Given the description of an element on the screen output the (x, y) to click on. 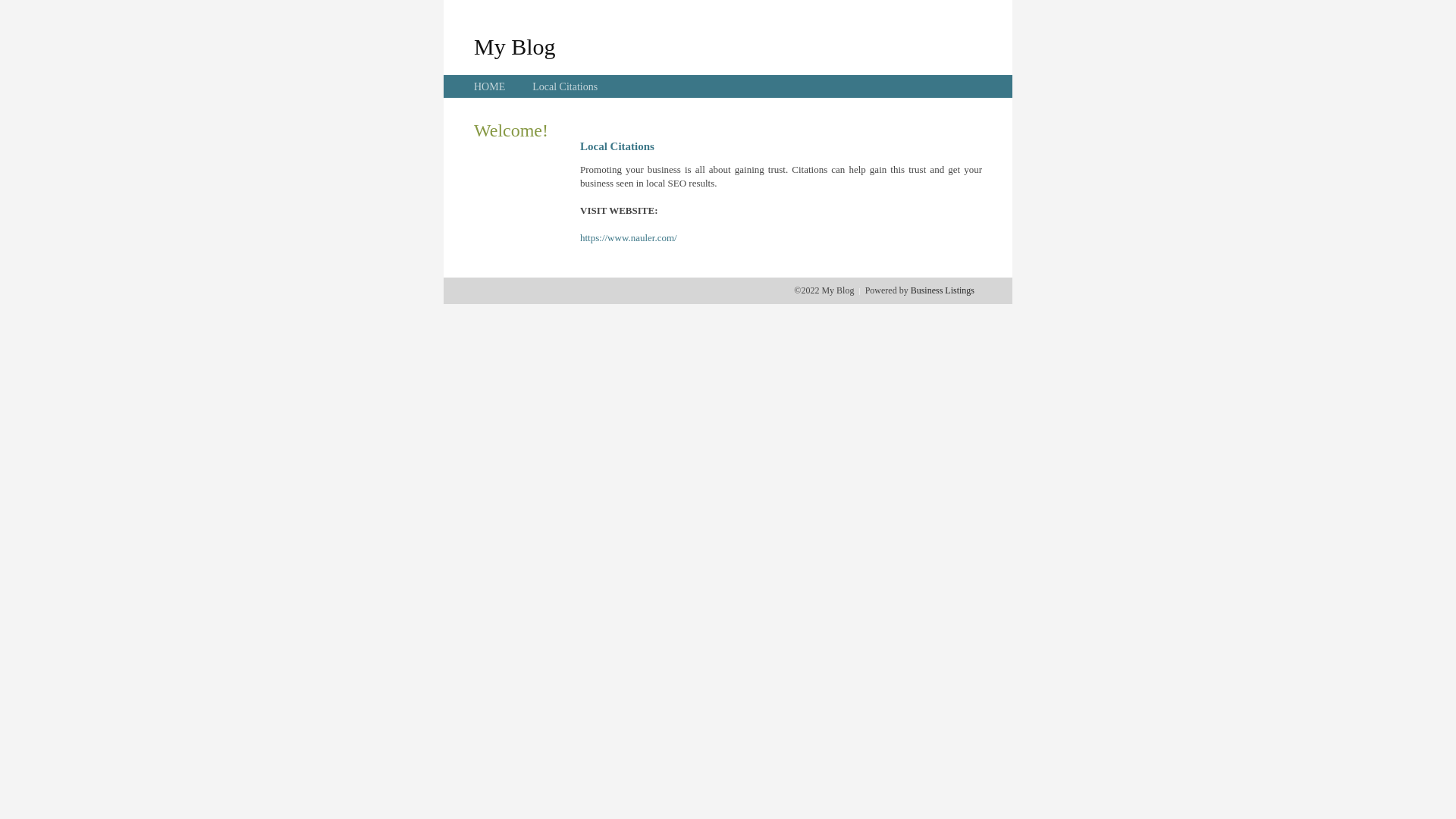
https://www.nauler.com/ Element type: text (628, 237)
HOME Element type: text (489, 86)
My Blog Element type: text (514, 46)
Business Listings Element type: text (942, 290)
Local Citations Element type: text (564, 86)
